Given the description of an element on the screen output the (x, y) to click on. 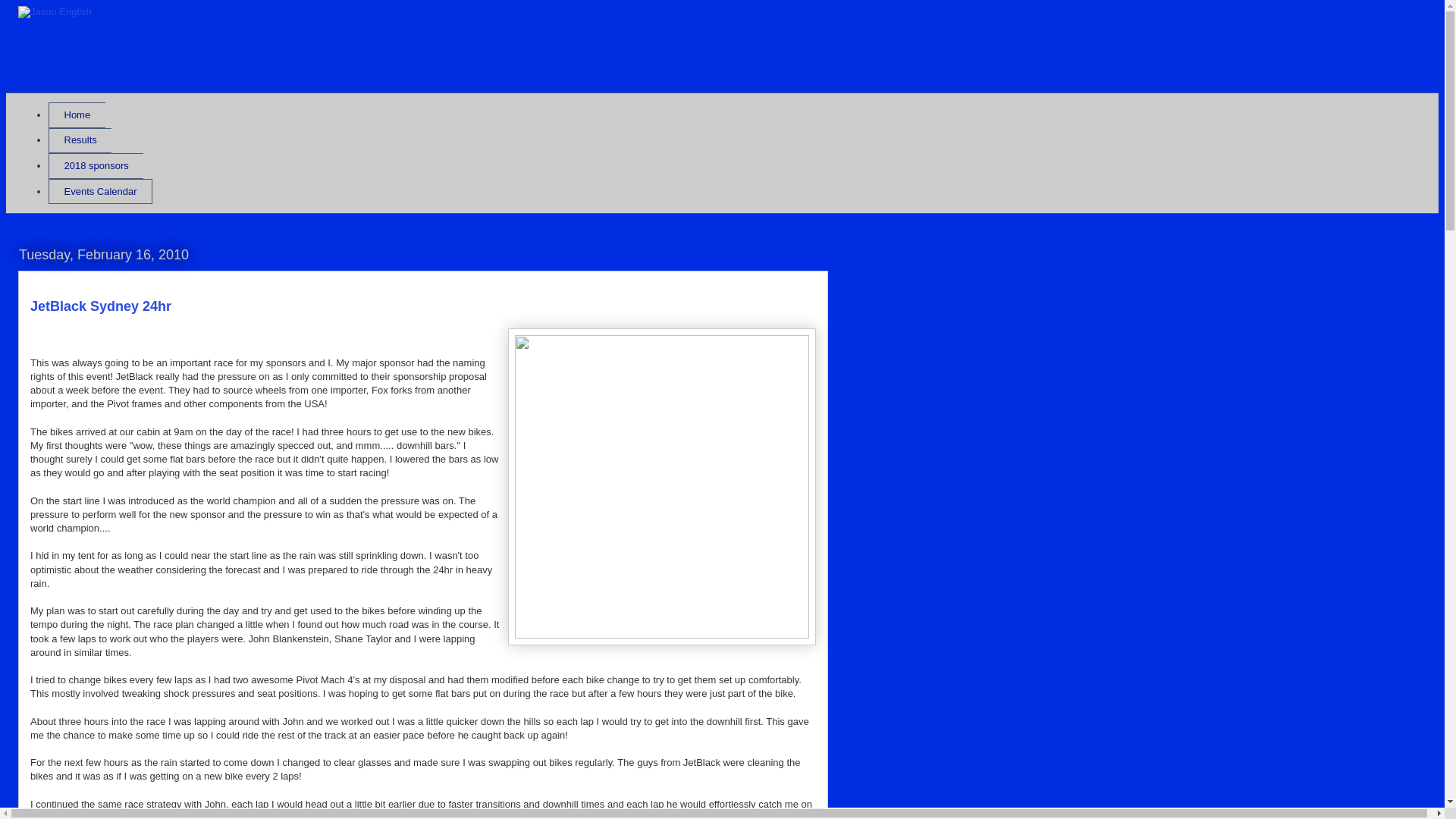
2018 sponsors Element type: text (95, 165)
Events Calendar Element type: text (100, 191)
Home Element type: text (76, 115)
Results Element type: text (79, 140)
